Given the description of an element on the screen output the (x, y) to click on. 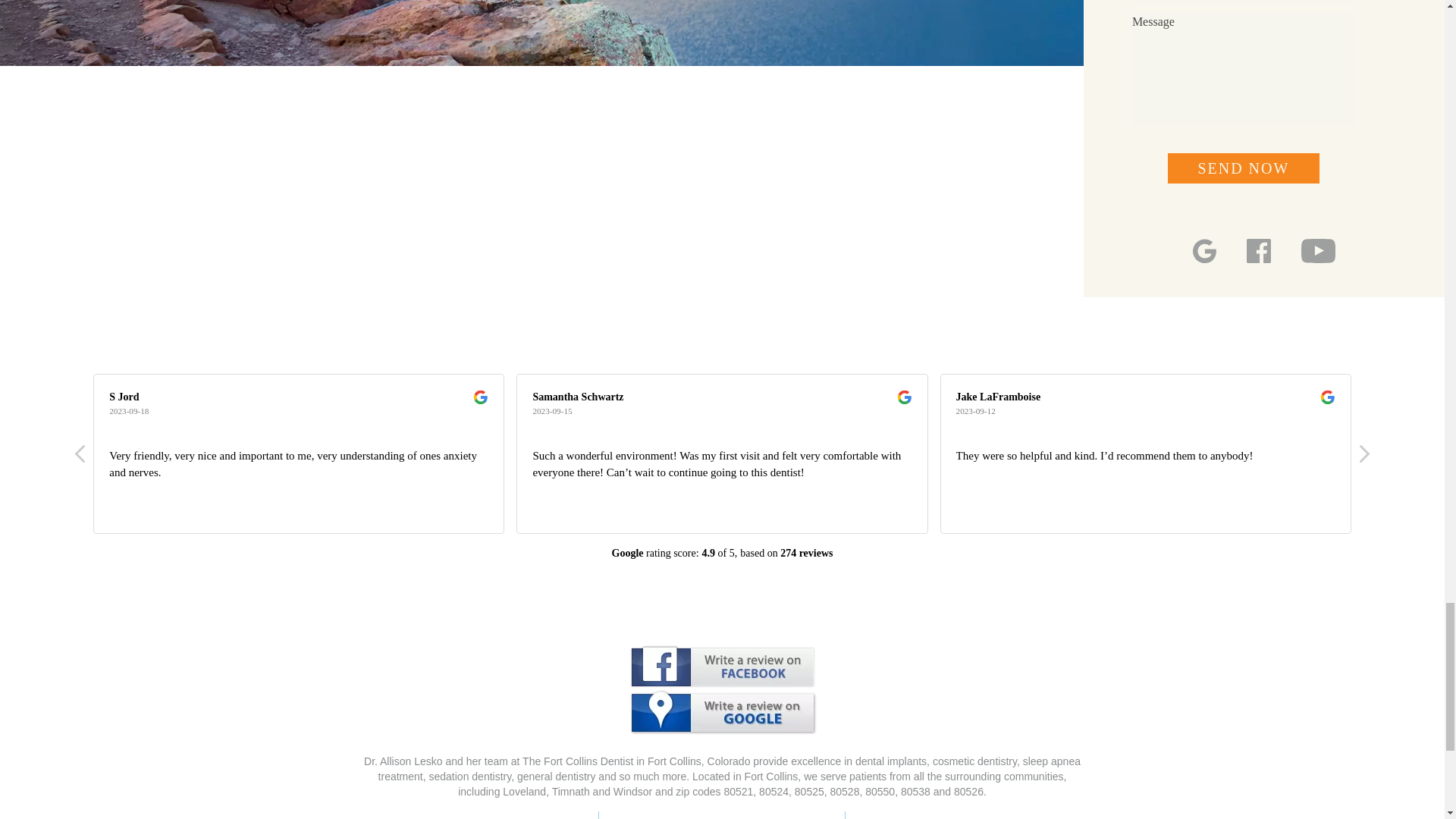
Send Now (1243, 168)
